Given the description of an element on the screen output the (x, y) to click on. 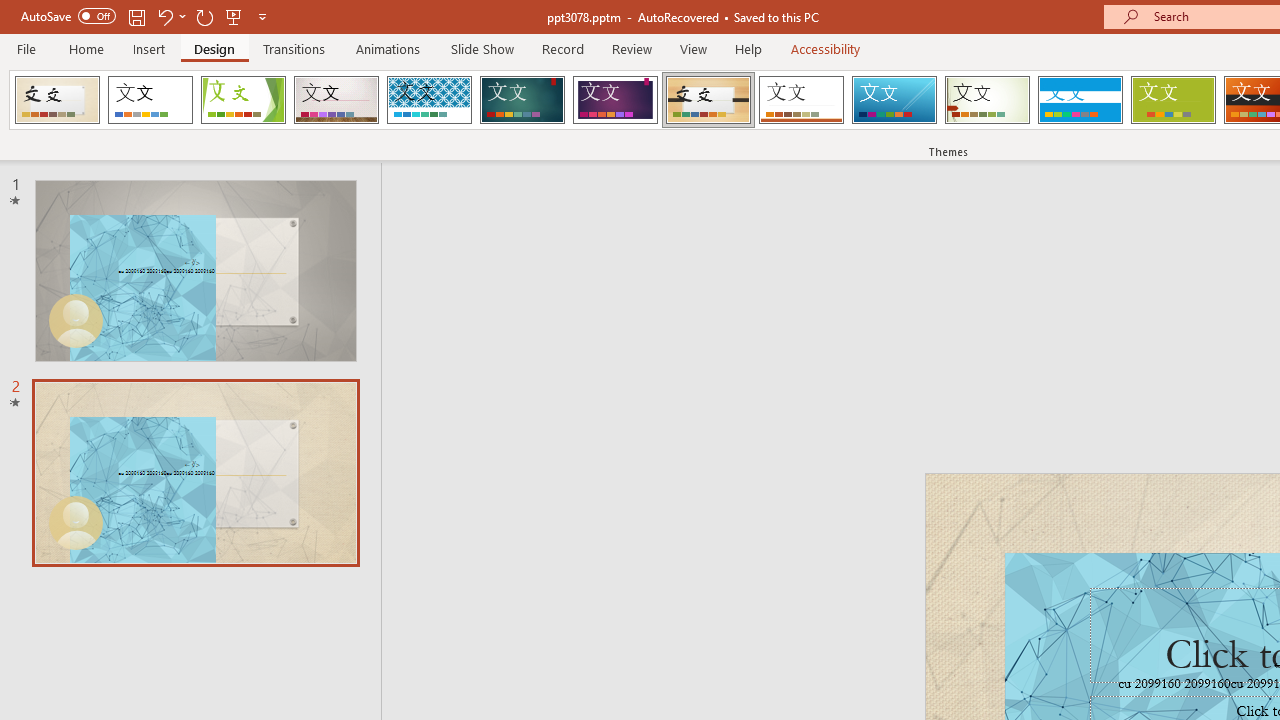
Slice (893, 100)
Banded (1080, 100)
